Given the description of an element on the screen output the (x, y) to click on. 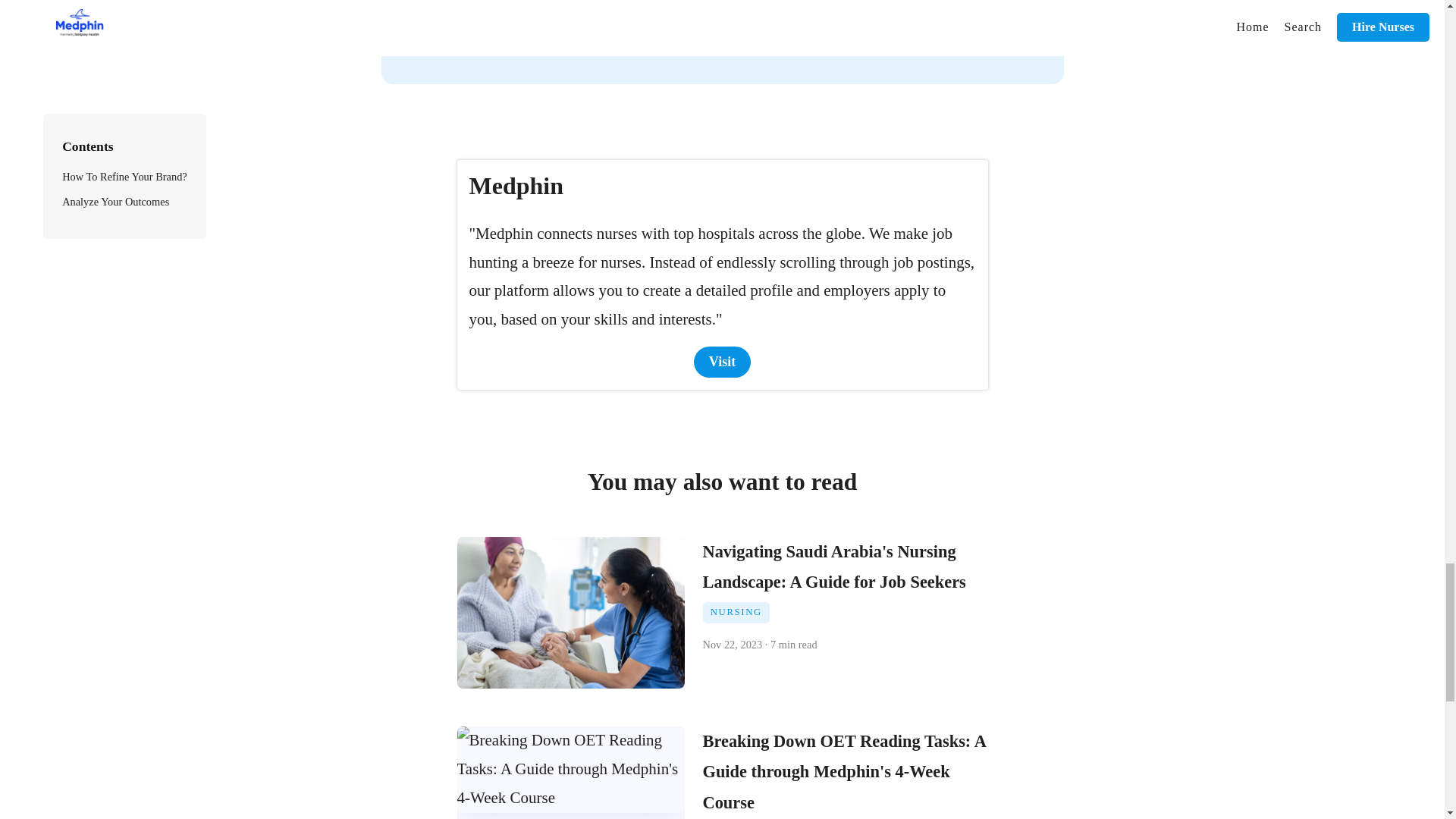
Submit (841, 30)
Visit (722, 361)
